Given the description of an element on the screen output the (x, y) to click on. 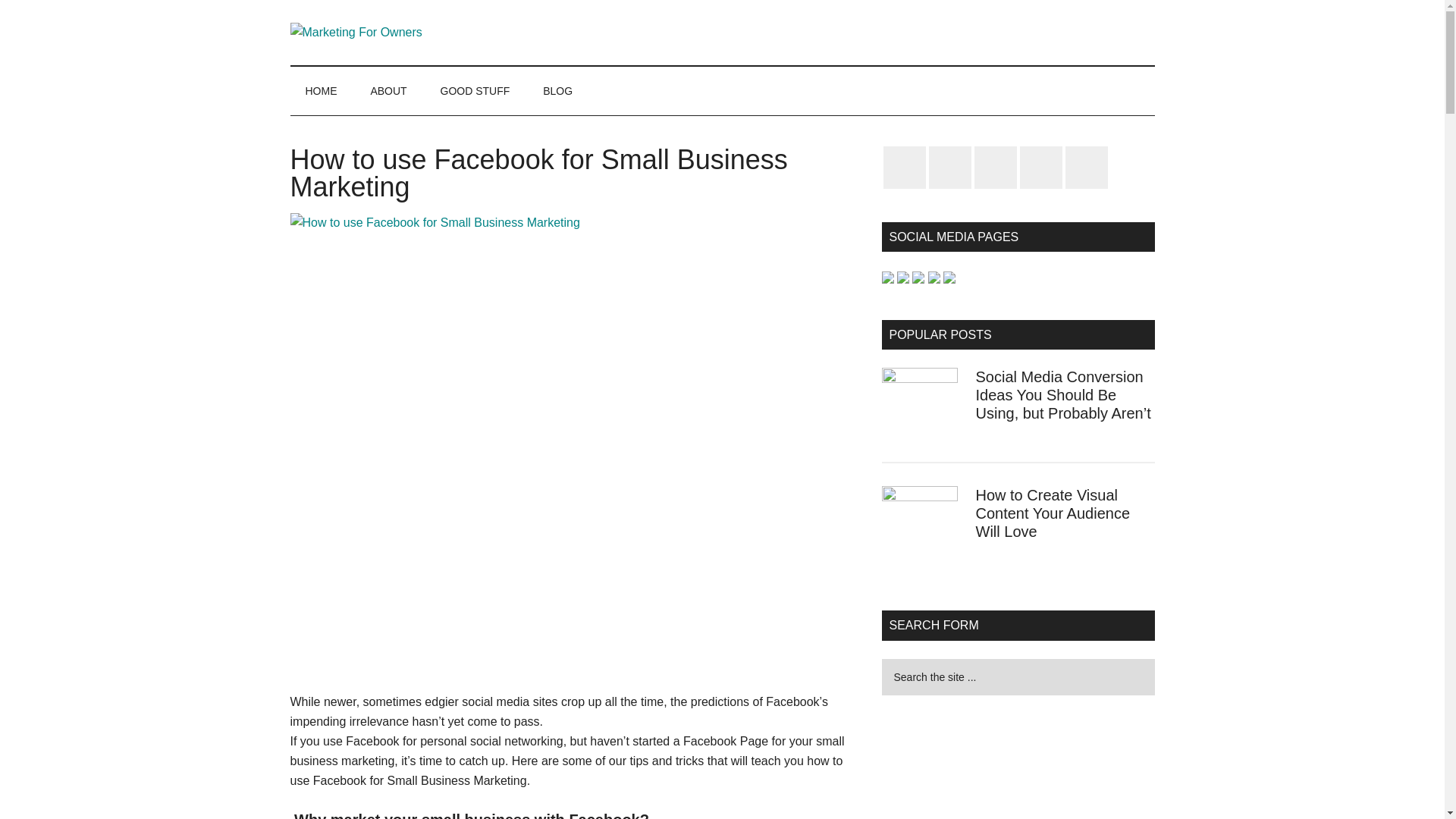
BLOG (557, 90)
HOME (320, 90)
GOOD STUFF (475, 90)
ABOUT (388, 90)
